Given the description of an element on the screen output the (x, y) to click on. 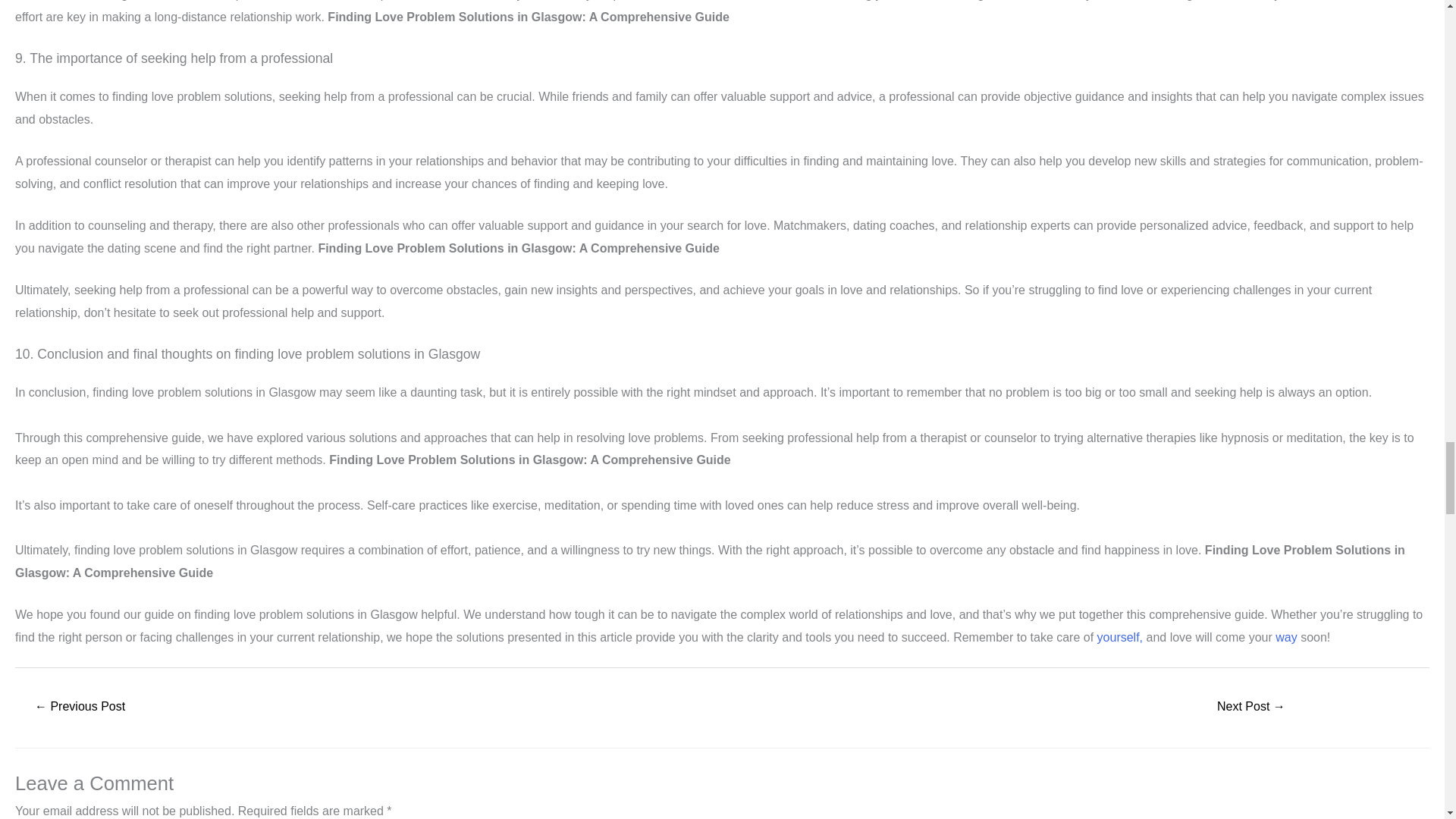
Unlock The Secrets to Solving Love Problems in Birmingham (79, 707)
way (1284, 636)
yourself, (1119, 636)
